Given the description of an element on the screen output the (x, y) to click on. 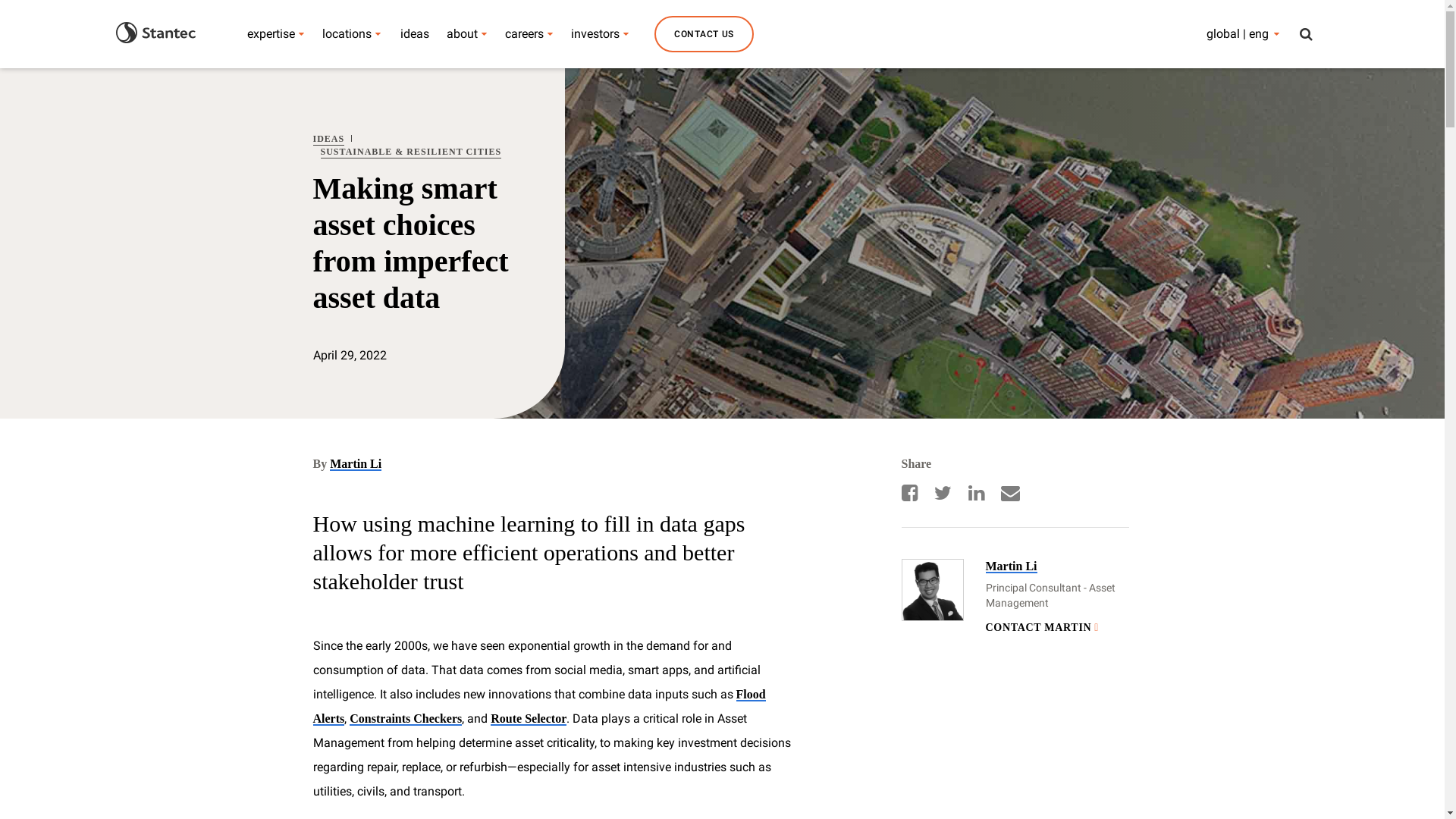
expertise (270, 33)
